Given the description of an element on the screen output the (x, y) to click on. 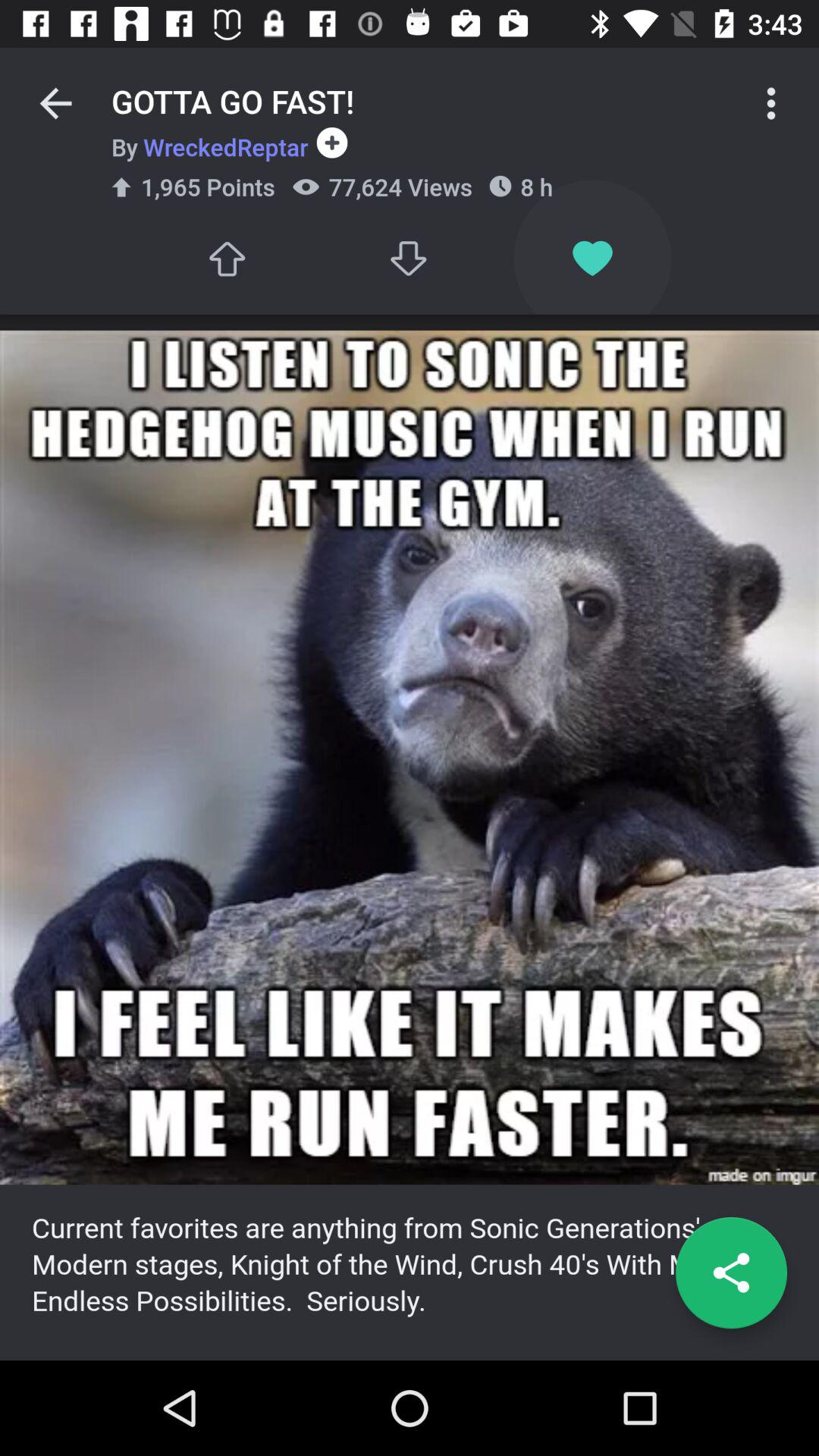
like this post (592, 258)
